Given the description of an element on the screen output the (x, y) to click on. 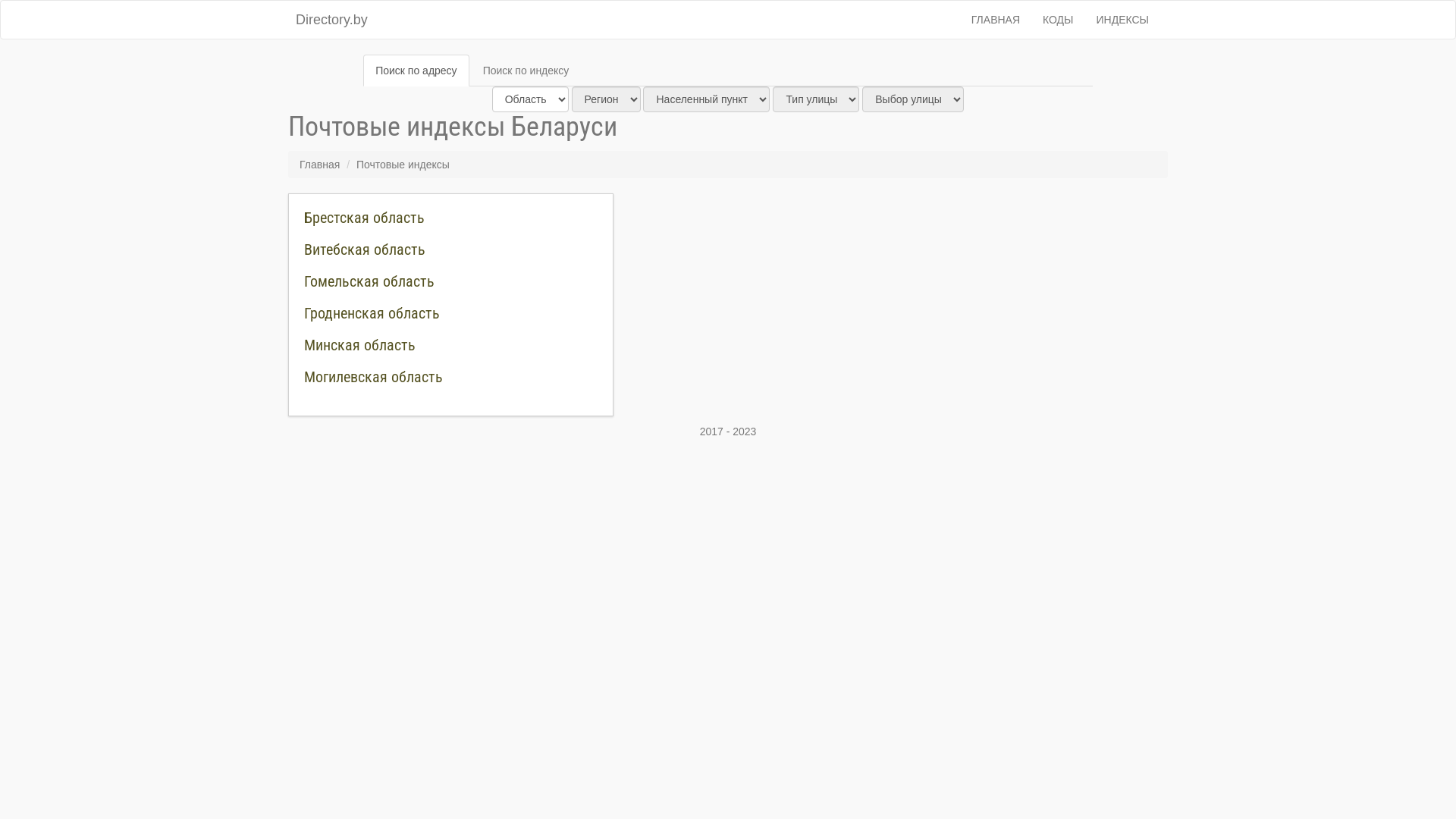
Directory.by Element type: text (331, 19)
